Given the description of an element on the screen output the (x, y) to click on. 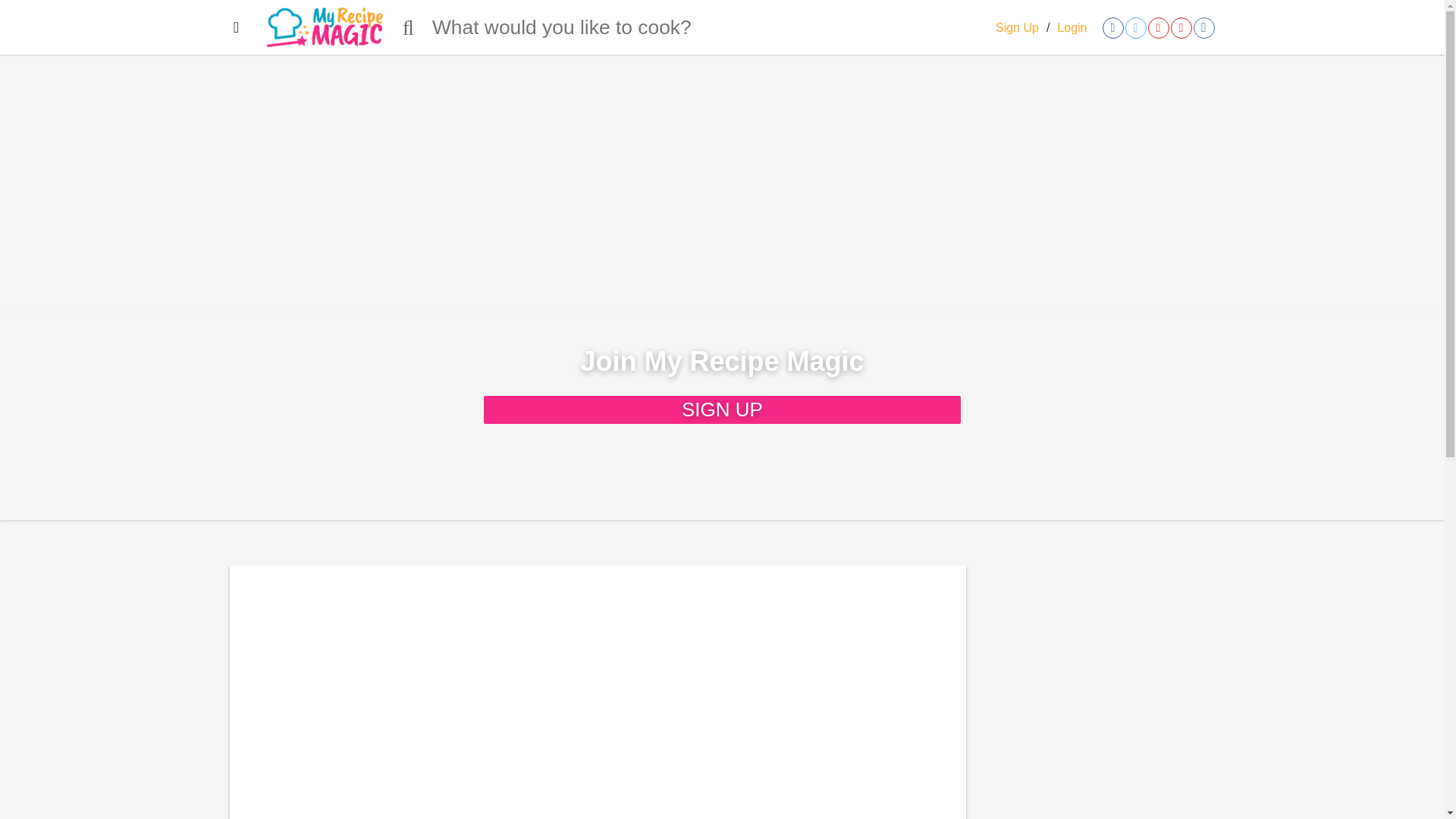
Login (1071, 27)
SIGN UP (721, 409)
My recipe Magic (324, 27)
Sign Up (1017, 27)
